Given the description of an element on the screen output the (x, y) to click on. 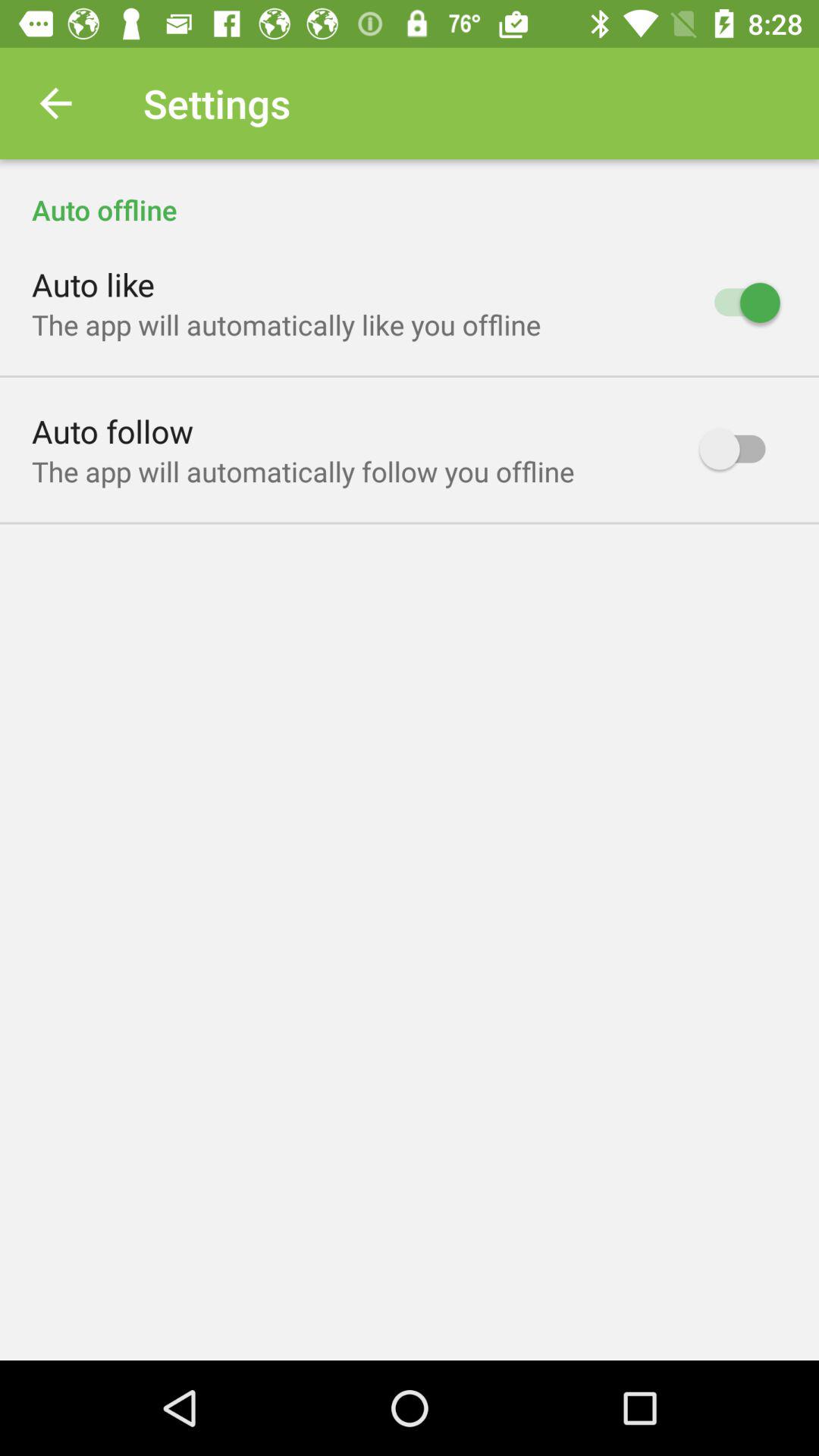
jump until auto offline icon (409, 193)
